Given the description of an element on the screen output the (x, y) to click on. 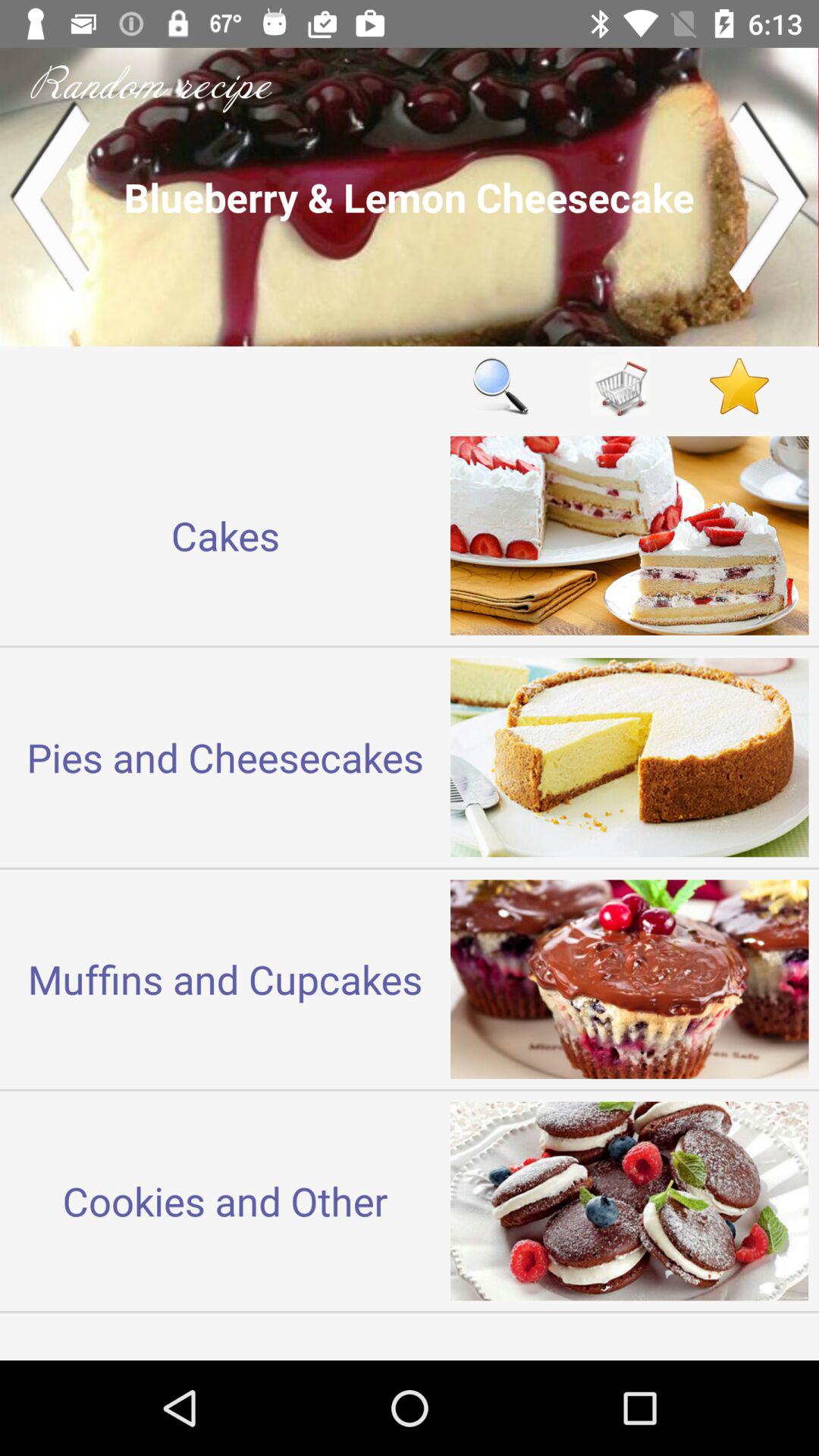
select the header picture (409, 196)
